Given the description of an element on the screen output the (x, y) to click on. 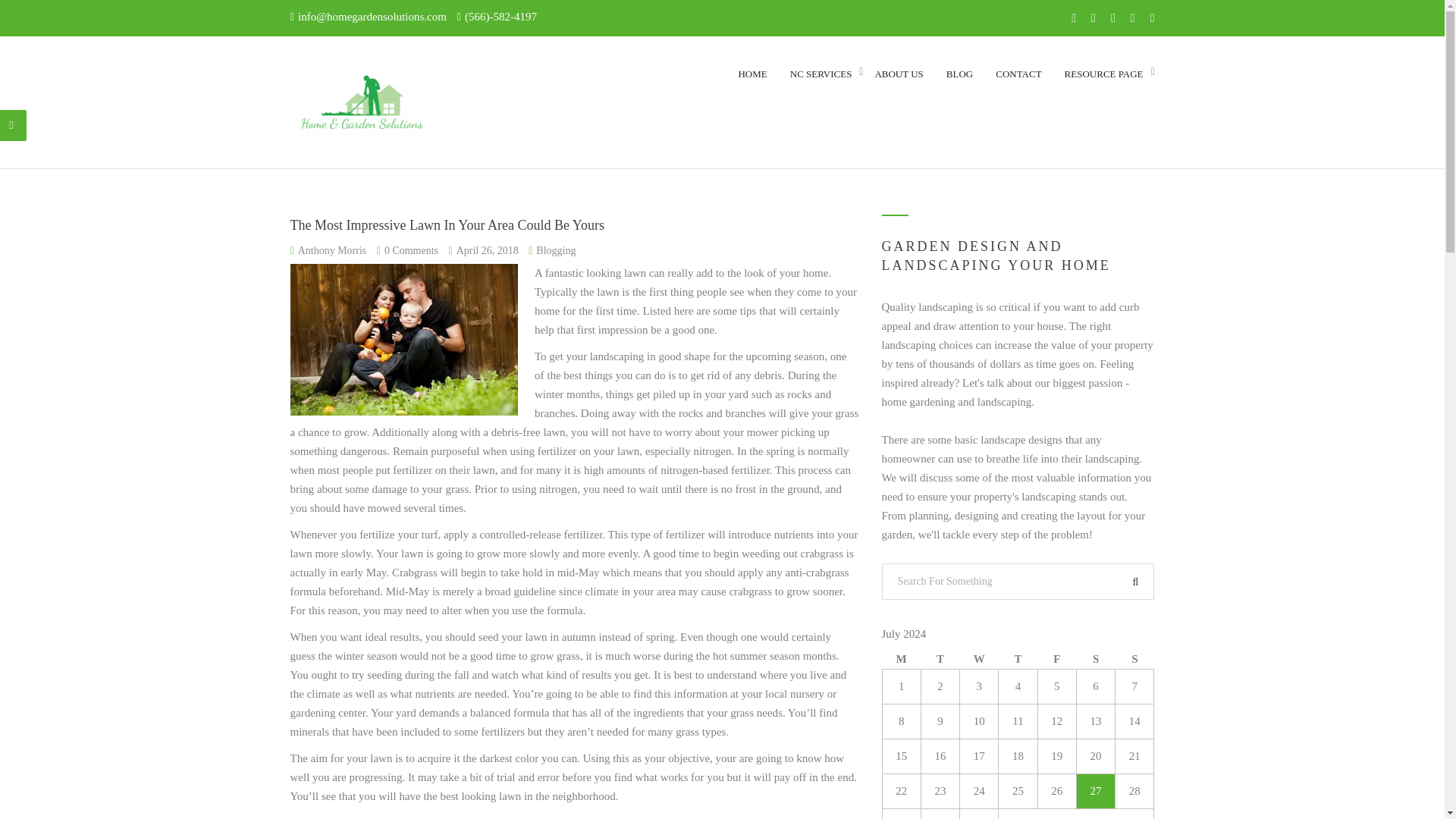
NC SERVICES (820, 74)
RESOURCE PAGE (940, 74)
CONTACT (1103, 74)
ABOUT US (1018, 74)
